Given the description of an element on the screen output the (x, y) to click on. 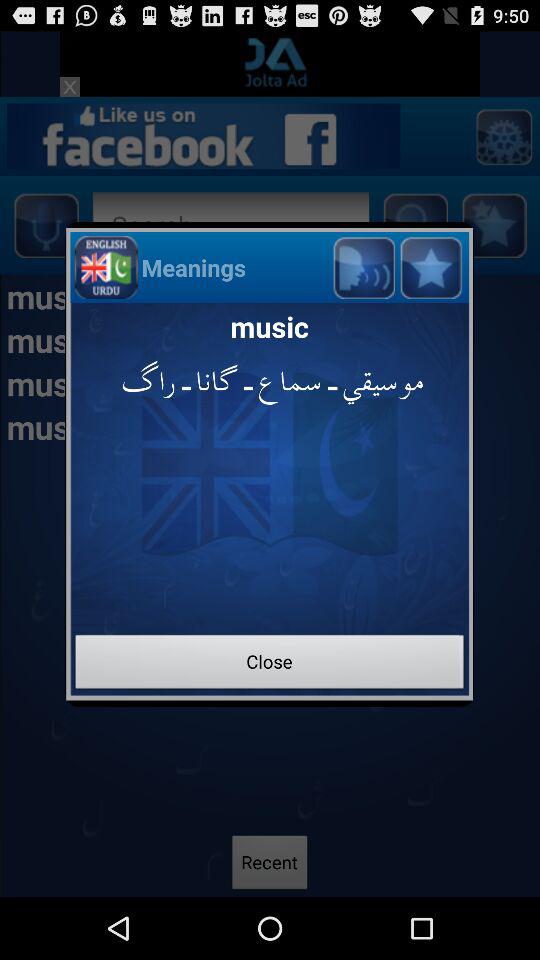
sound burtton (363, 266)
